Given the description of an element on the screen output the (x, y) to click on. 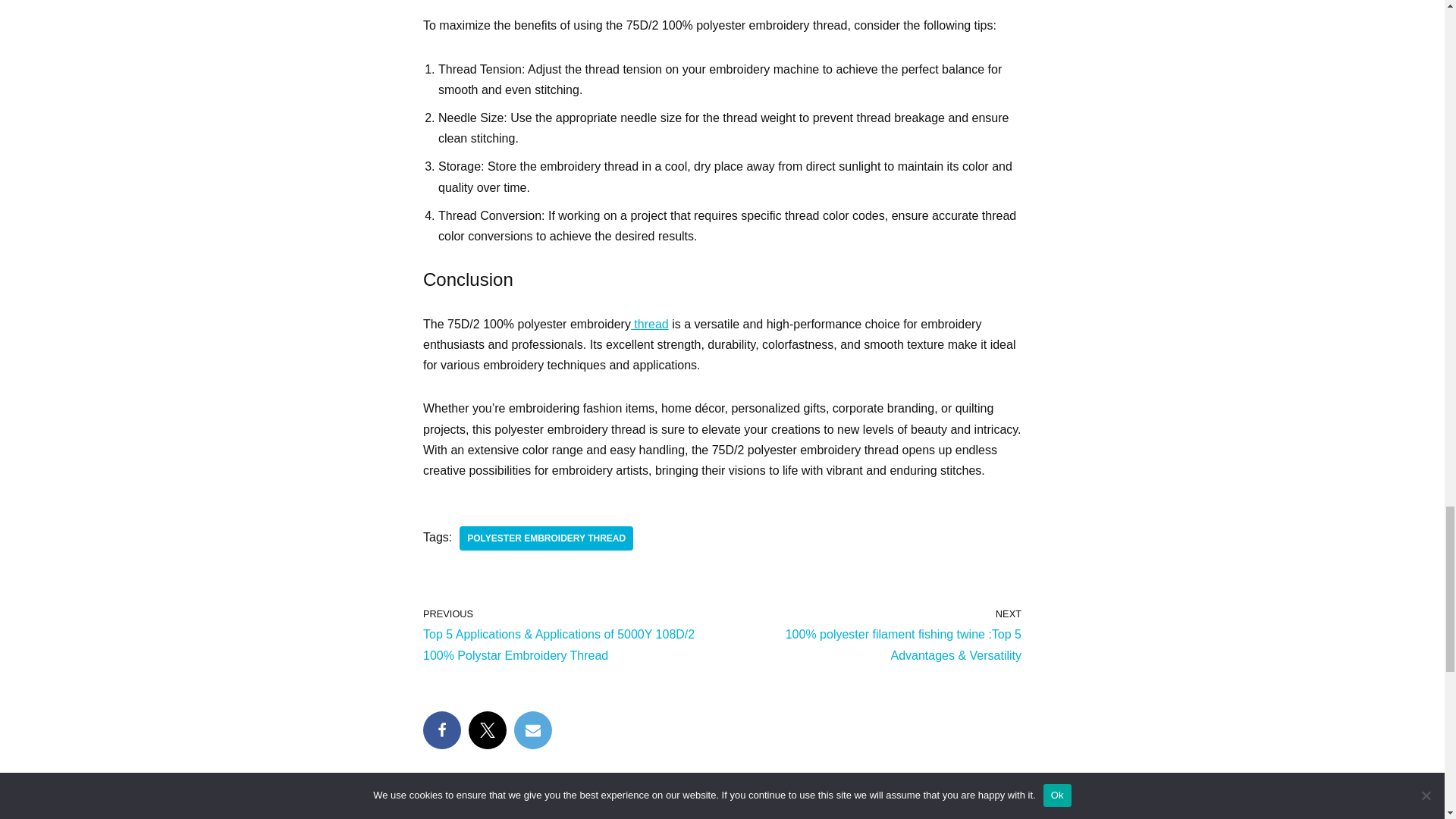
X (487, 730)
Polyester Embroidery Thread (546, 538)
Email (532, 730)
Facebook (442, 730)
